Given the description of an element on the screen output the (x, y) to click on. 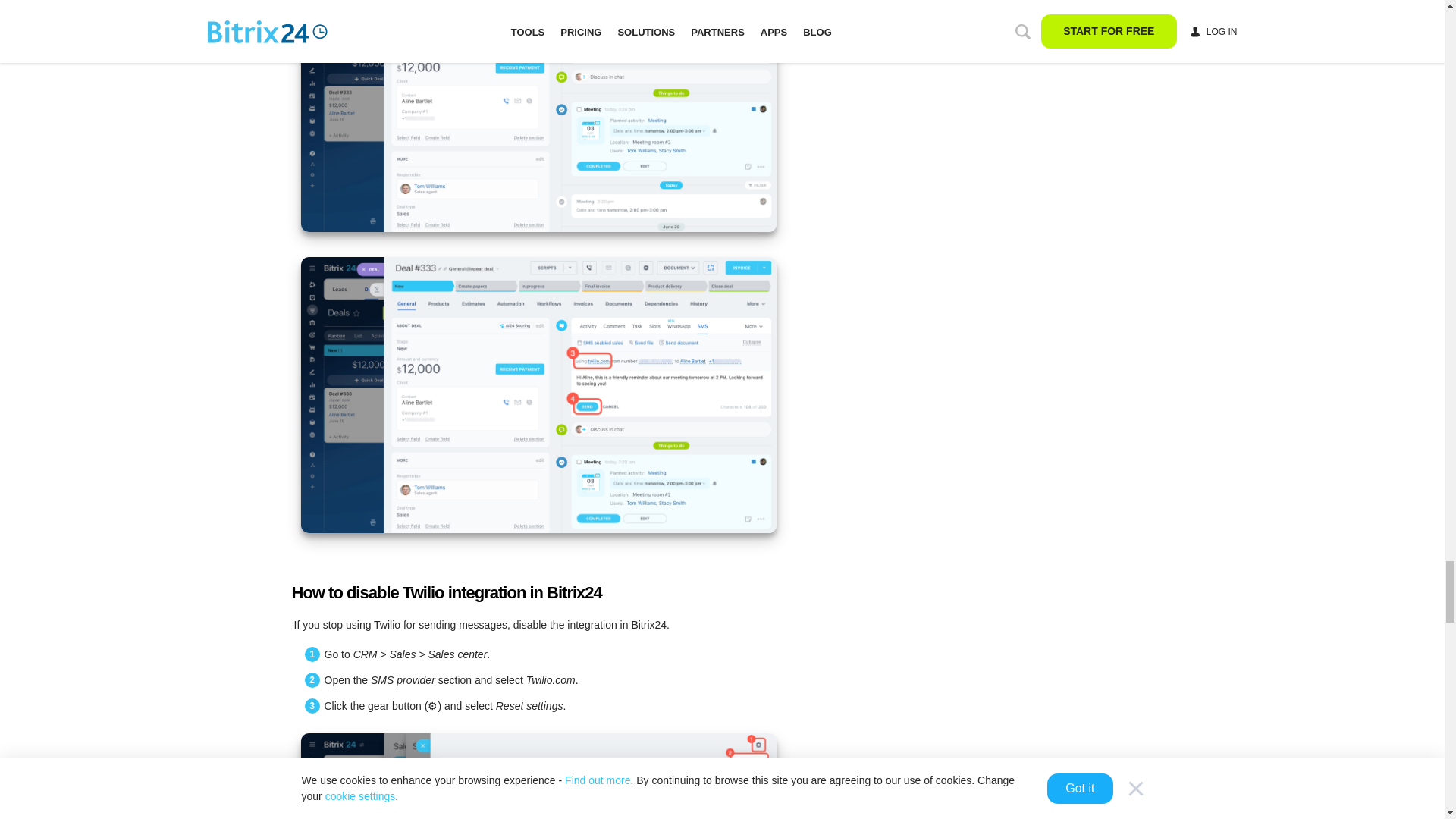
Send SMS (537, 395)
Reset settings (537, 776)
More settings (537, 115)
